Given the description of an element on the screen output the (x, y) to click on. 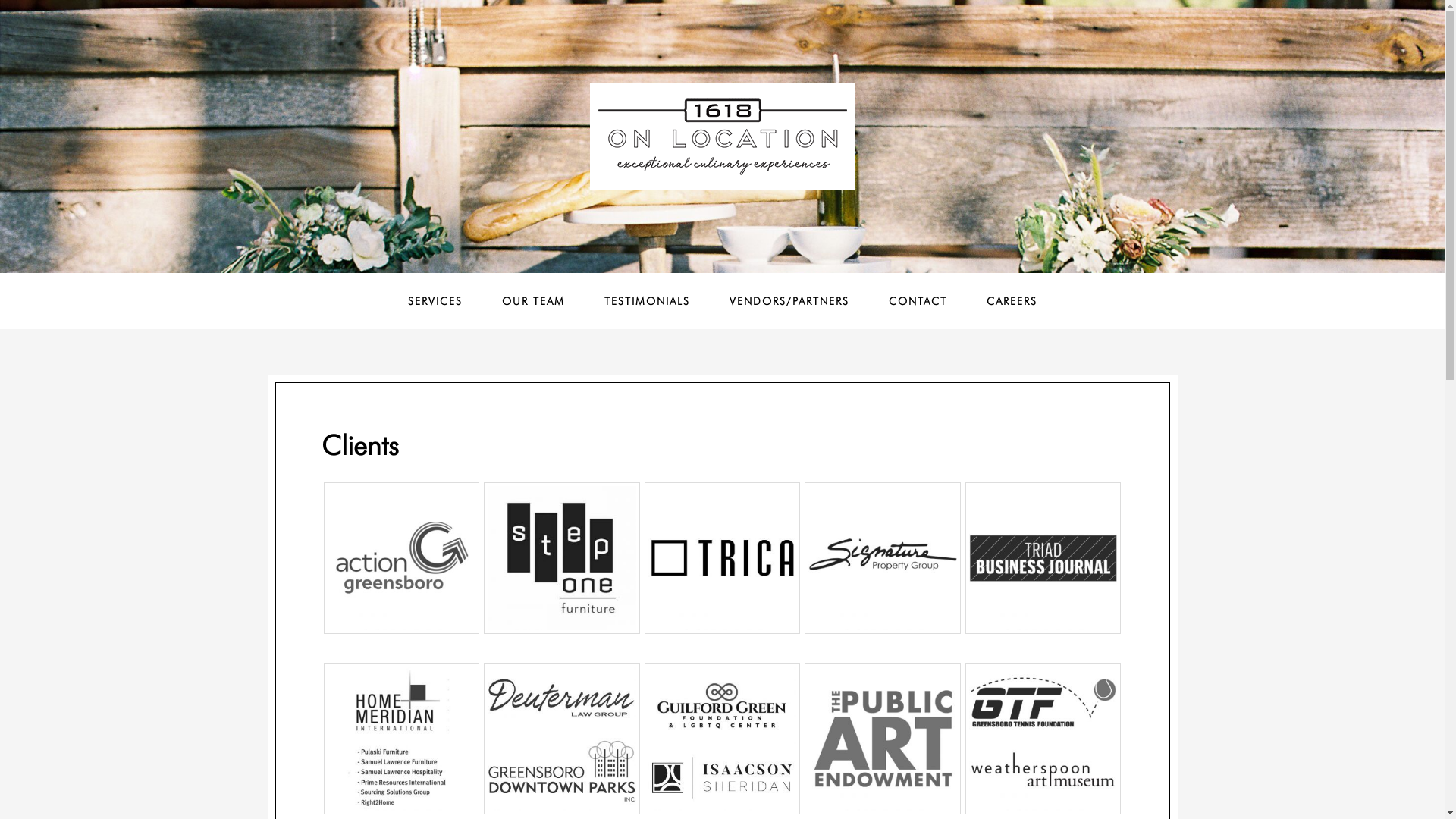
TESTIMONIALS Element type: text (646, 301)
VENDORS/PARTNERS Element type: text (789, 301)
1618 ON LOCATION Element type: text (722, 136)
SERVICES Element type: text (434, 301)
CONTACT Element type: text (917, 301)
OUR TEAM Element type: text (533, 301)
CAREERS Element type: text (1010, 301)
